Given the description of an element on the screen output the (x, y) to click on. 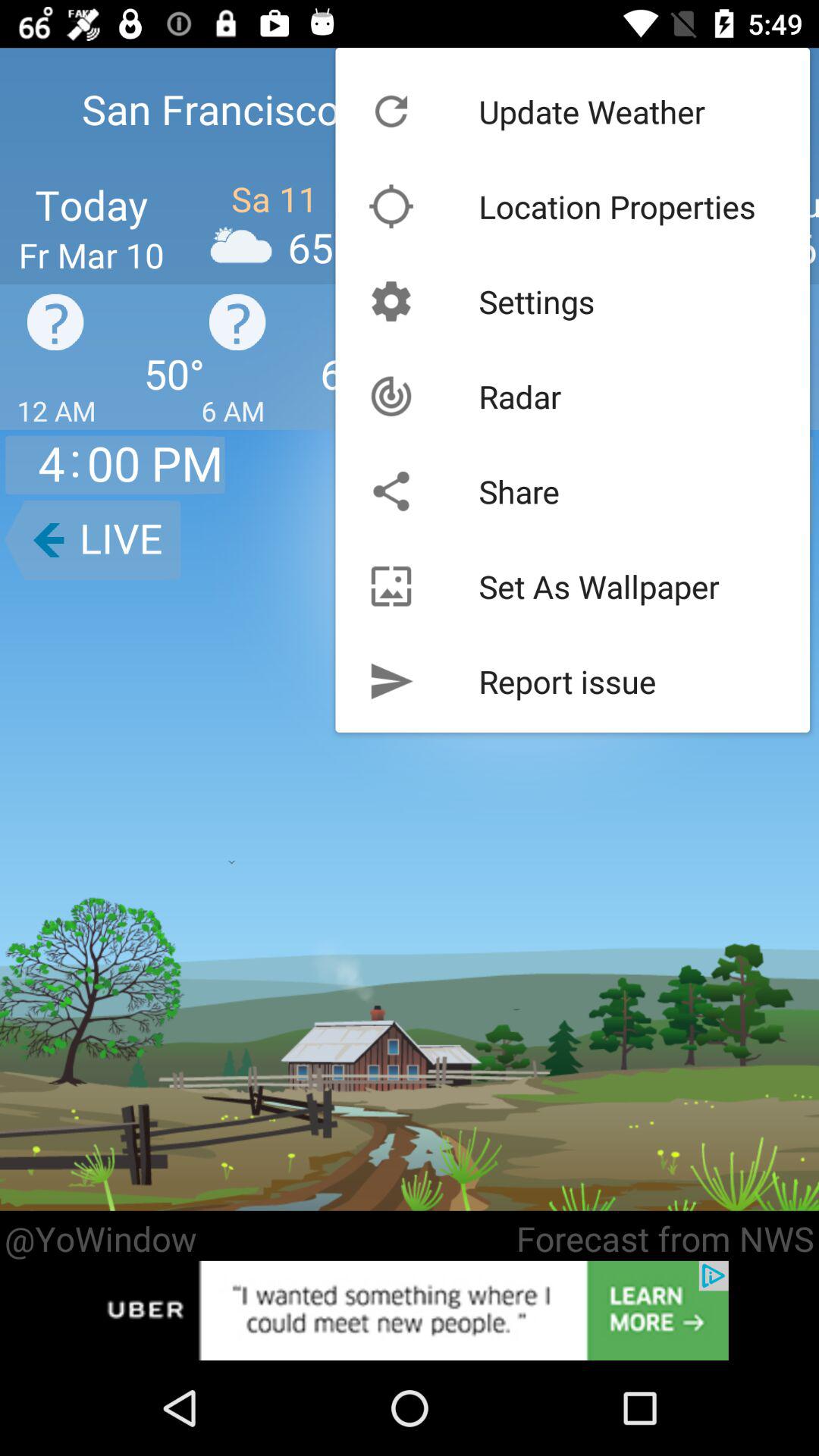
scroll to the update weather (591, 111)
